Given the description of an element on the screen output the (x, y) to click on. 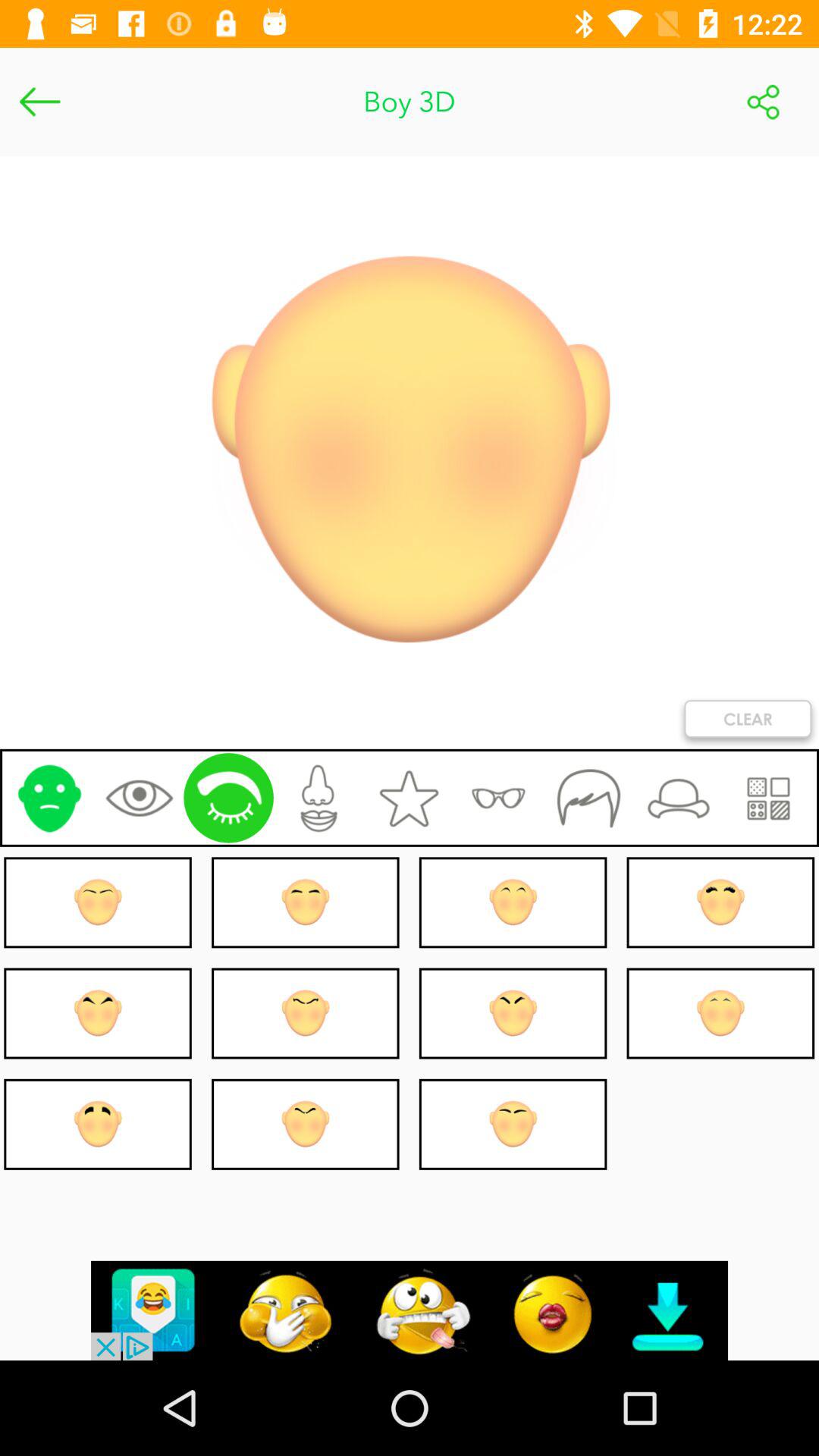
share the article (763, 101)
